Given the description of an element on the screen output the (x, y) to click on. 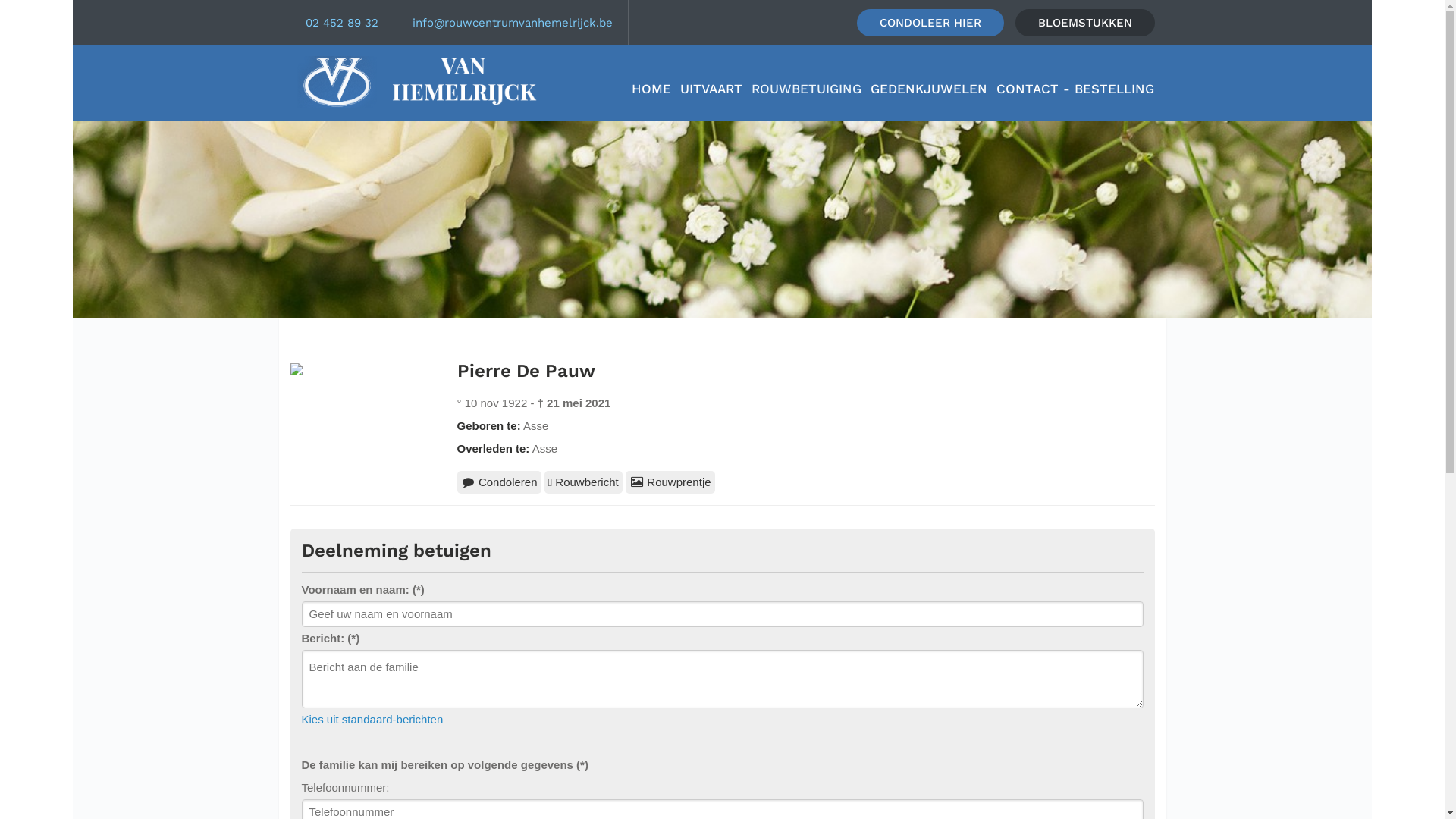
CONDOLEER HIER Element type: text (930, 22)
02 452 89 32 Element type: text (340, 22)
BLOEMSTUKKEN Element type: text (1084, 22)
Condoleren Element type: text (499, 481)
Rouwprentje Element type: text (670, 481)
HOME Element type: text (651, 88)
Kies uit standaard-berichten Element type: text (372, 718)
ROUWBETUIGING Element type: text (806, 88)
CONTACT - BESTELLING Element type: text (1075, 88)
UITVAART Element type: text (711, 88)
GEDENKJUWELEN Element type: text (928, 88)
info@rouwcentrumvanhemelrijck.be Element type: text (512, 22)
